Given the description of an element on the screen output the (x, y) to click on. 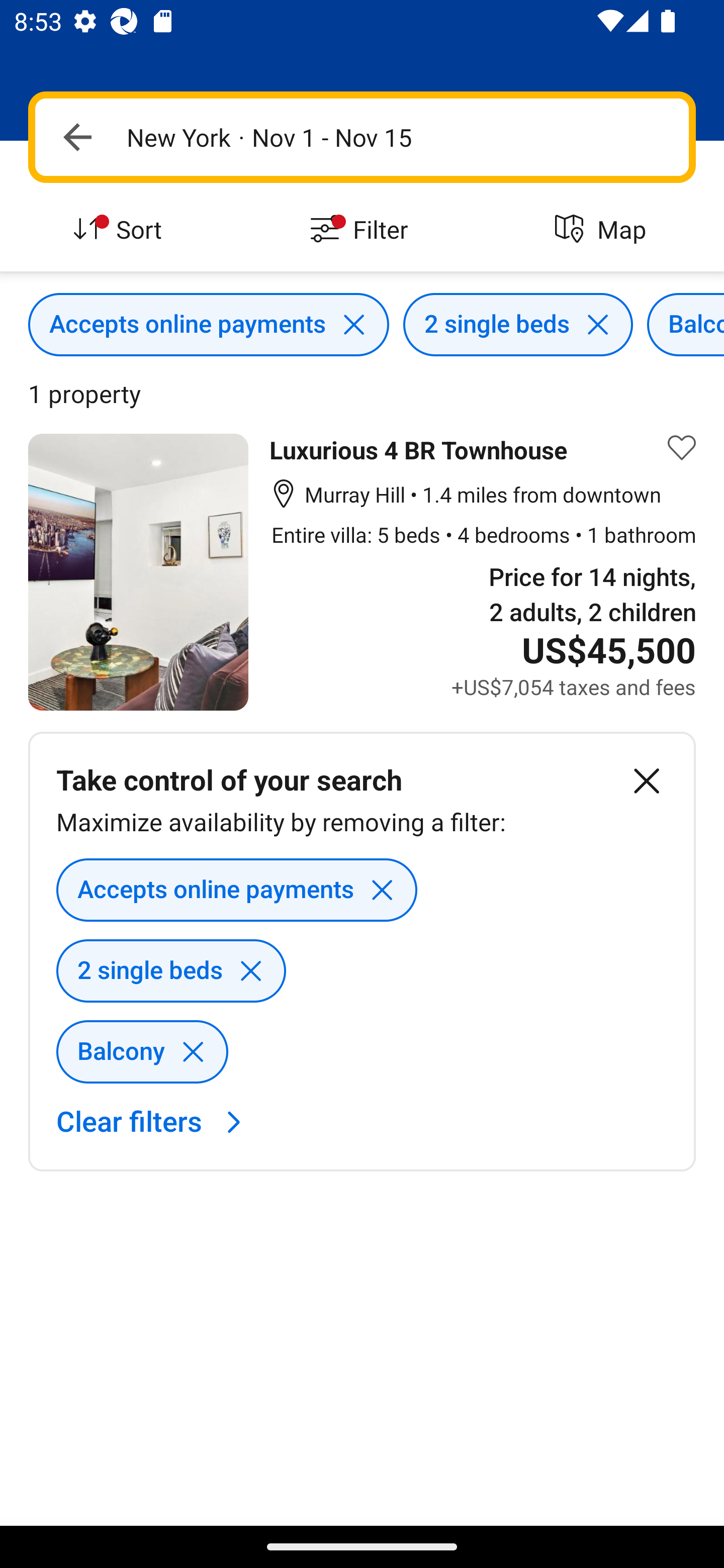
Navigate up New York · Nov 1 - Nov 15 (362, 136)
Navigate up (77, 136)
Sort (120, 230)
Filter (361, 230)
Map (603, 230)
Save property to list (681, 447)
Close this section (646, 780)
Clear filters (153, 1122)
